Given the description of an element on the screen output the (x, y) to click on. 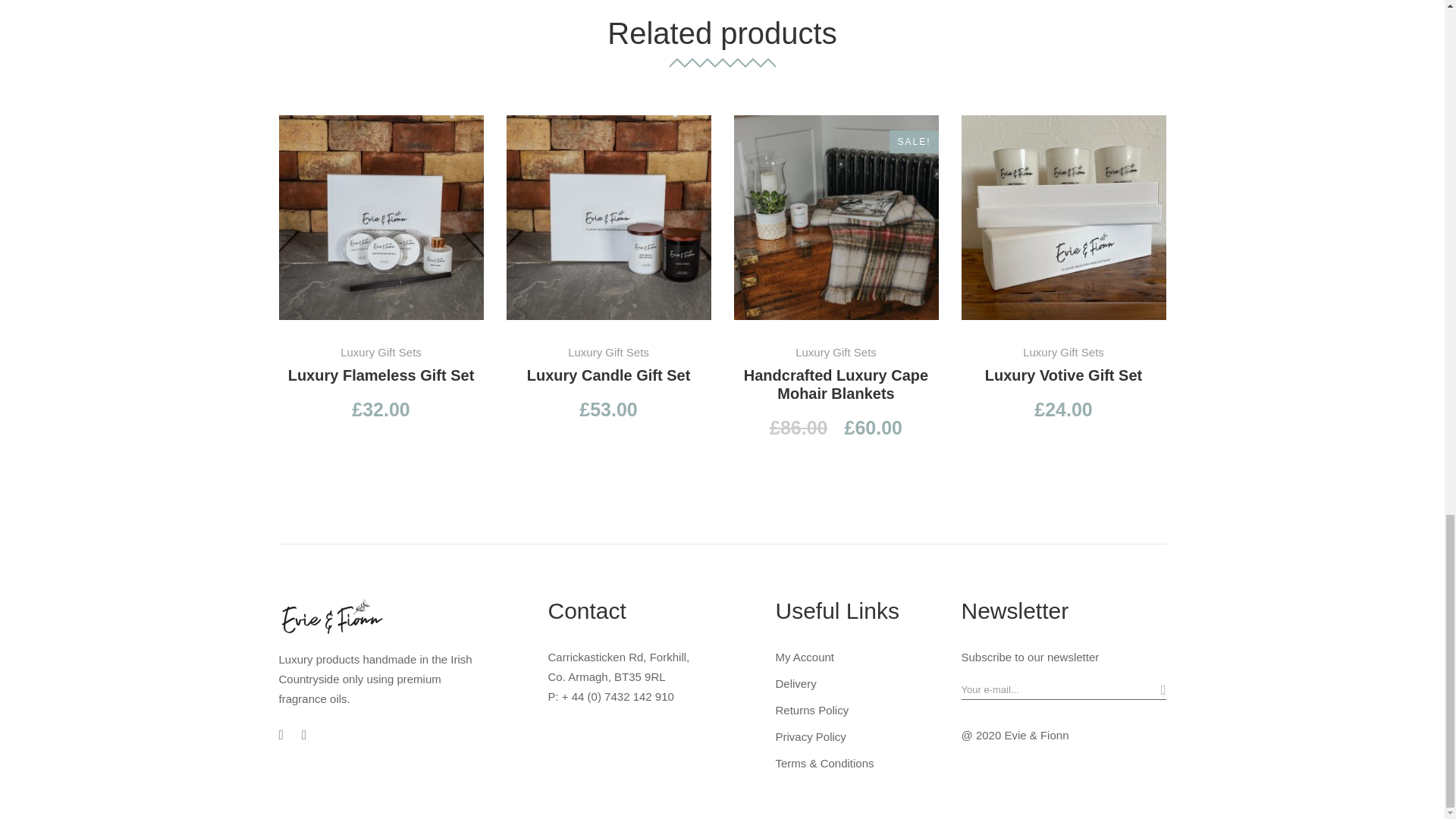
Luxury Flameless Gift Set (381, 217)
Luxury Candle Gift Set (608, 217)
Subscribe (1153, 691)
Handcrafted Luxury Cape Mohair Blankets (836, 217)
Luxury Flameless Gift Set (381, 375)
Handcrafted Luxury Cape Mohair Blankets (836, 384)
Luxury Candle Gift Set (608, 375)
